Given the description of an element on the screen output the (x, y) to click on. 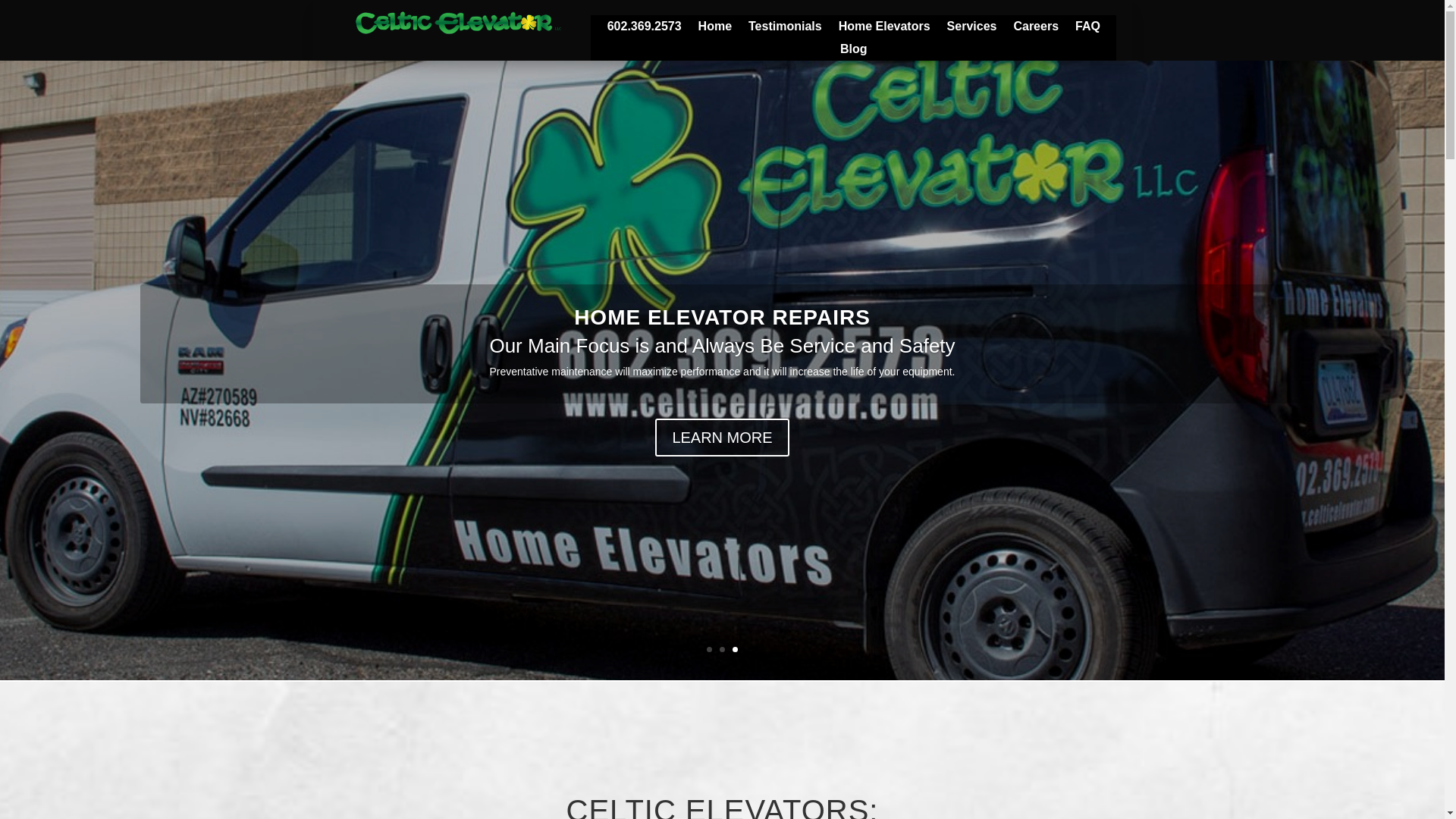
Careers (1035, 29)
HOME ELEVATOR REPAIRS (721, 343)
Blog (853, 52)
LEARN MORE (722, 464)
602.369.2573 (644, 29)
Services (972, 29)
Testimonials (785, 29)
FAQ (1087, 29)
Home Elevators (884, 29)
Home (715, 29)
